Given the description of an element on the screen output the (x, y) to click on. 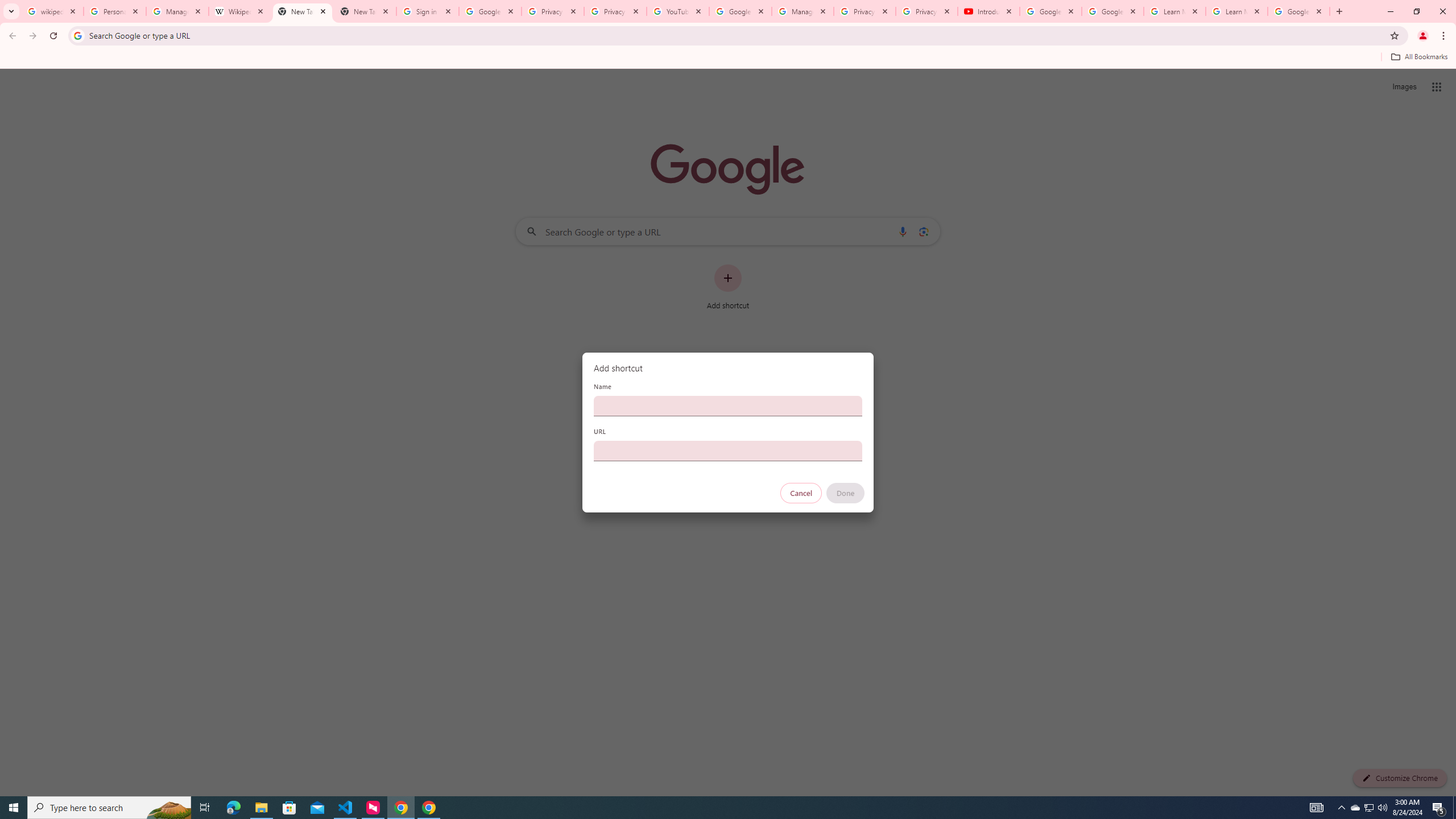
URL (727, 450)
Google Account (1298, 11)
Name (727, 405)
Google Account Help (1111, 11)
